Given the description of an element on the screen output the (x, y) to click on. 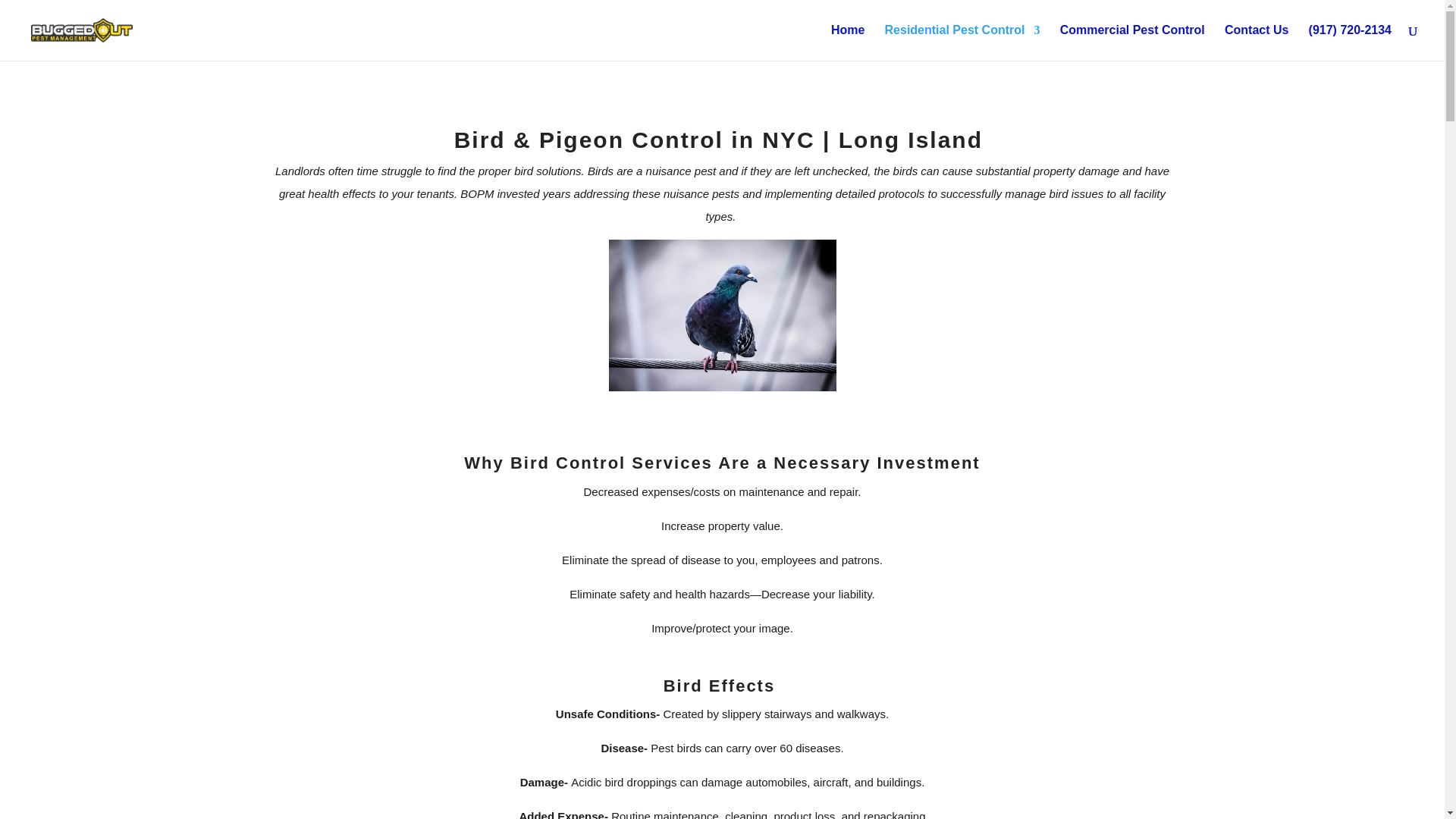
Commercial Pest Control (1132, 42)
Residential Pest Control (963, 42)
Contact Us (1256, 42)
Home (847, 42)
